Given the description of an element on the screen output the (x, y) to click on. 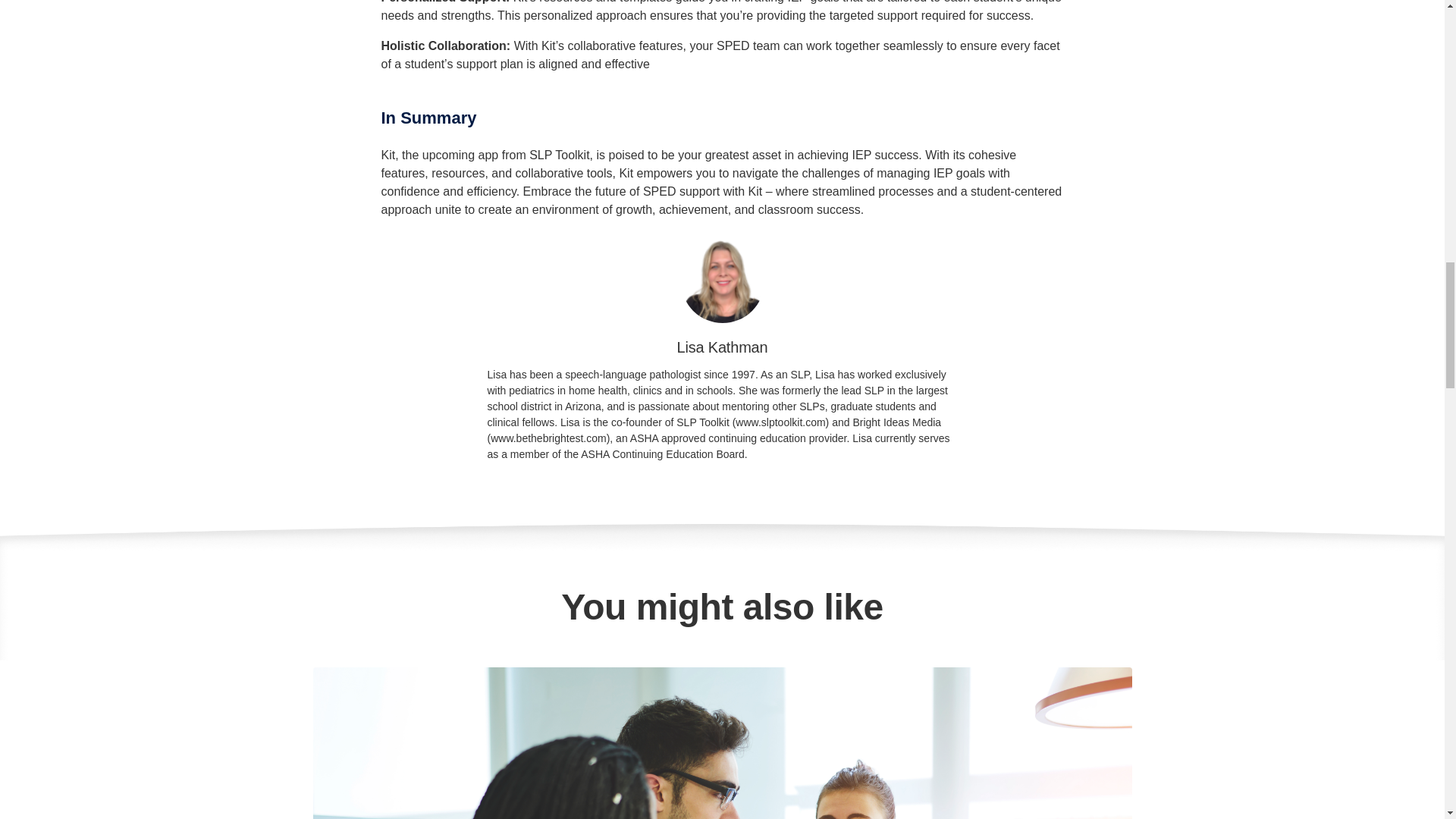
Lisa-Kathman (722, 280)
